Given the description of an element on the screen output the (x, y) to click on. 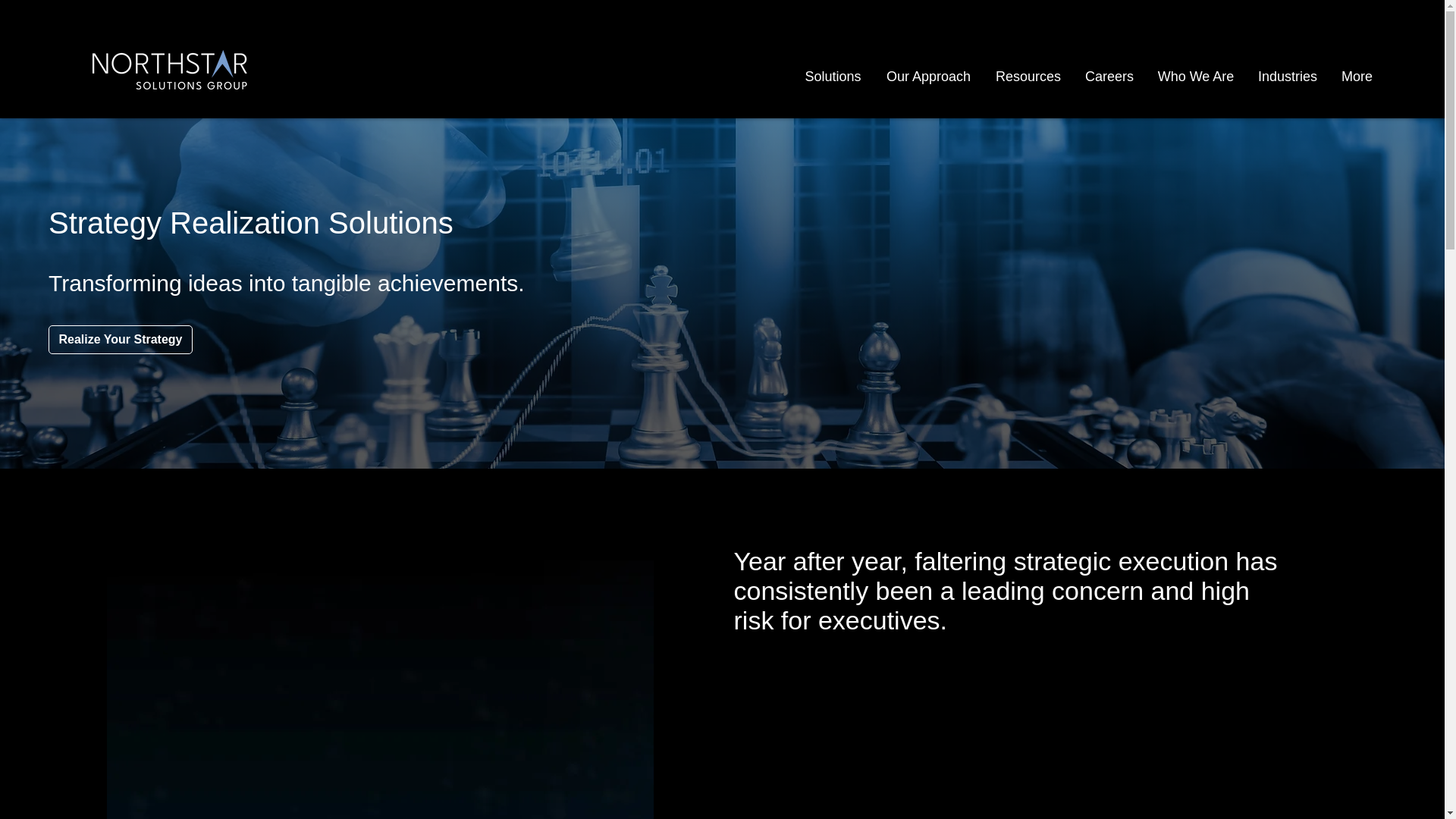
Our Approach (928, 76)
Resources (1028, 76)
Industries (1287, 76)
Careers (1109, 76)
Who We Are (1195, 76)
Solutions (832, 76)
Realize Your Strategy (120, 339)
